Given the description of an element on the screen output the (x, y) to click on. 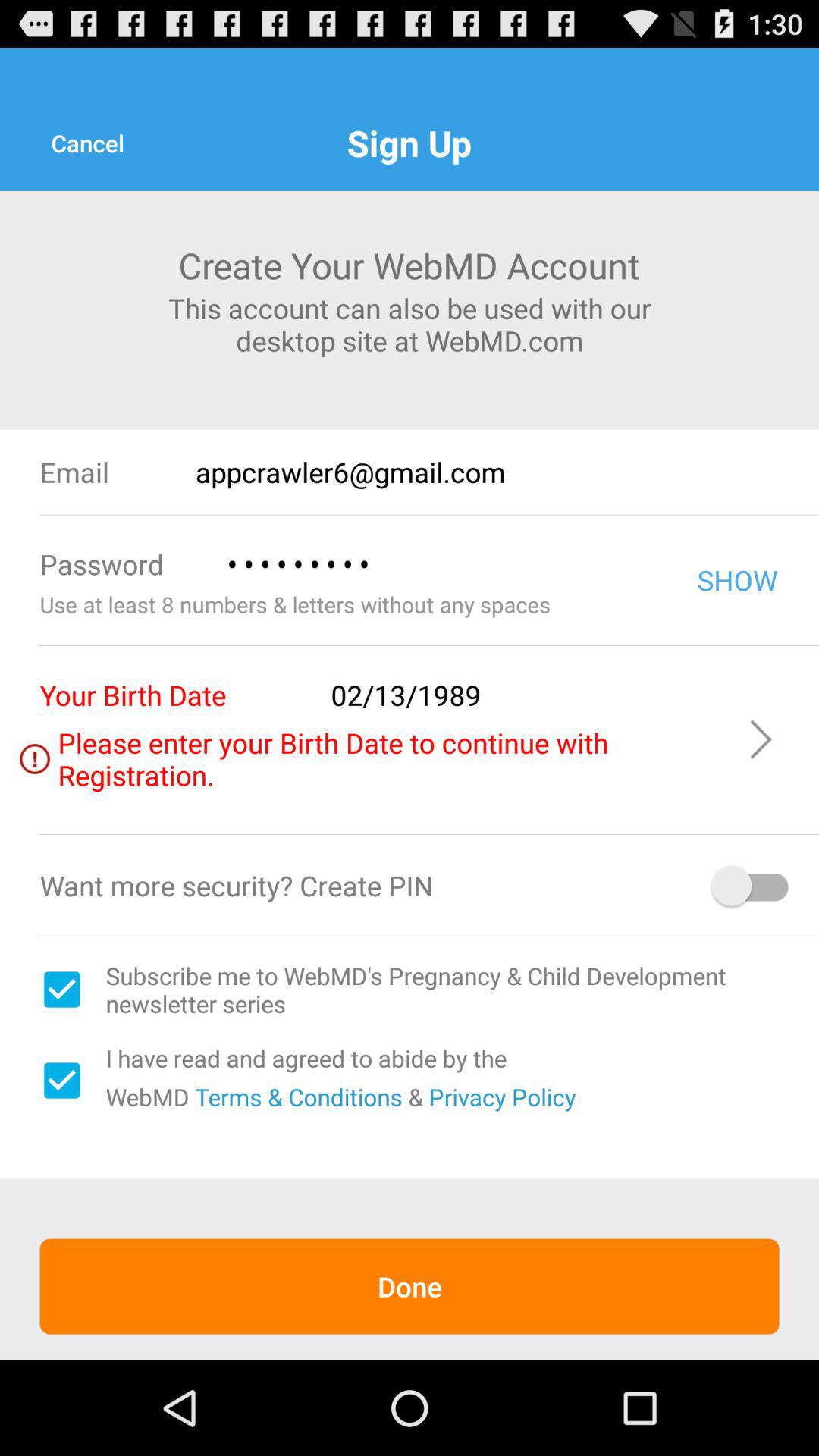
turn on item to the right of the password (439, 564)
